Given the description of an element on the screen output the (x, y) to click on. 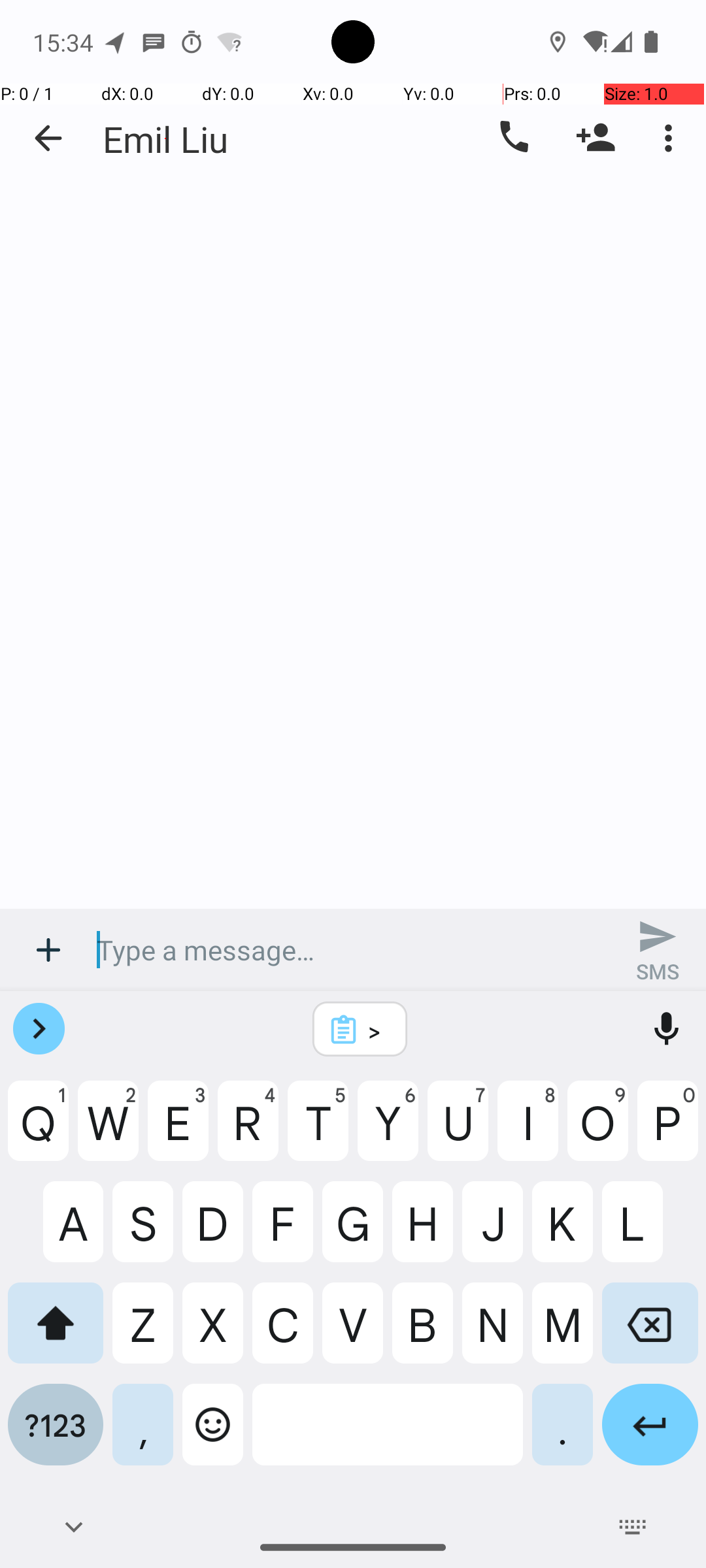
Emil Liu Element type: android.widget.TextView (165, 138)
>  Element type: android.widget.TextView (377, 1029)
